Given the description of an element on the screen output the (x, y) to click on. 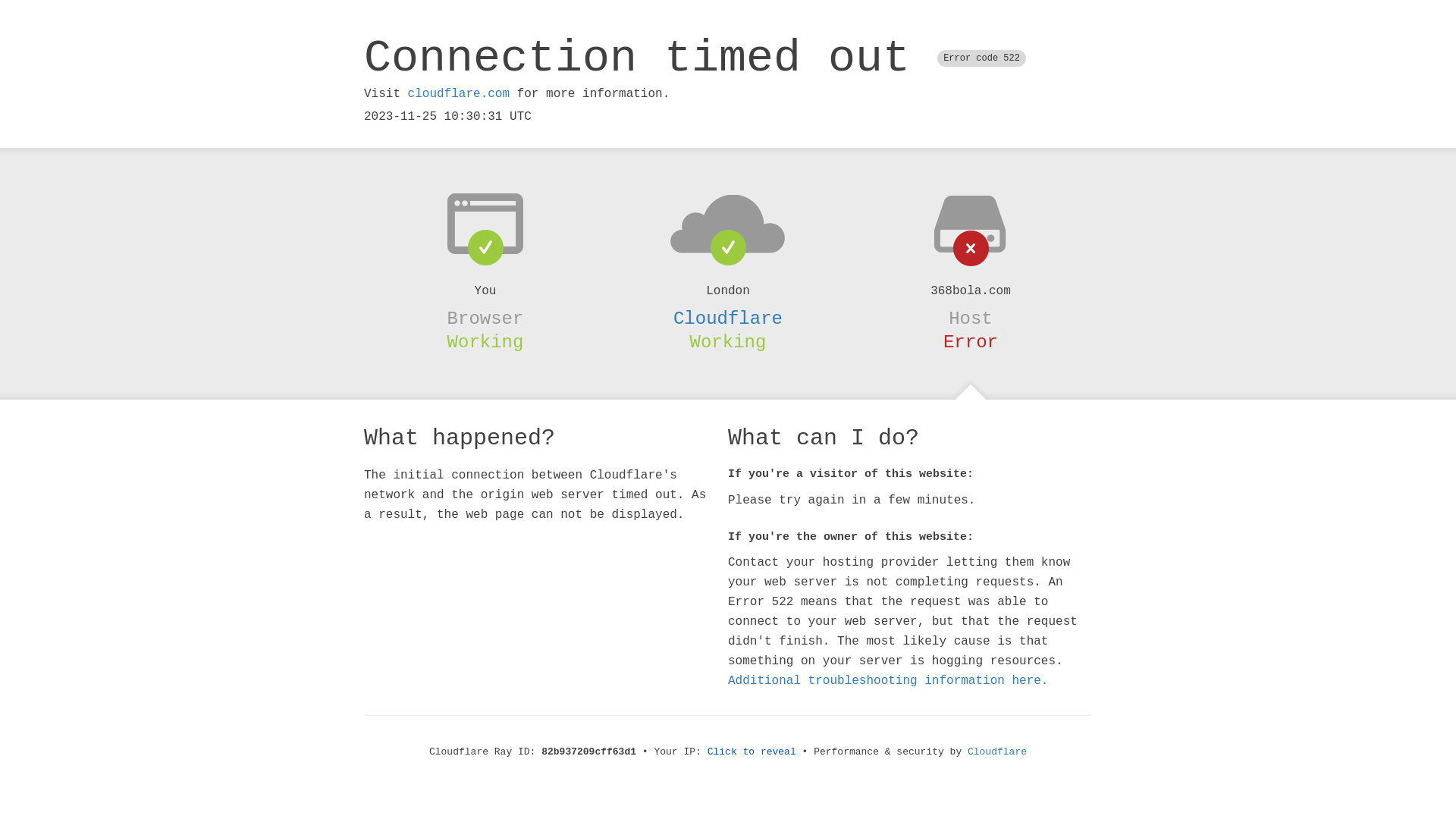
Cloudflare Element type: text (727, 318)
Click to reveal Element type: text (751, 751)
Additional troubleshooting information here. Element type: text (888, 680)
Cloudflare Element type: text (996, 751)
cloudflare.com Element type: text (458, 93)
